Given the description of an element on the screen output the (x, y) to click on. 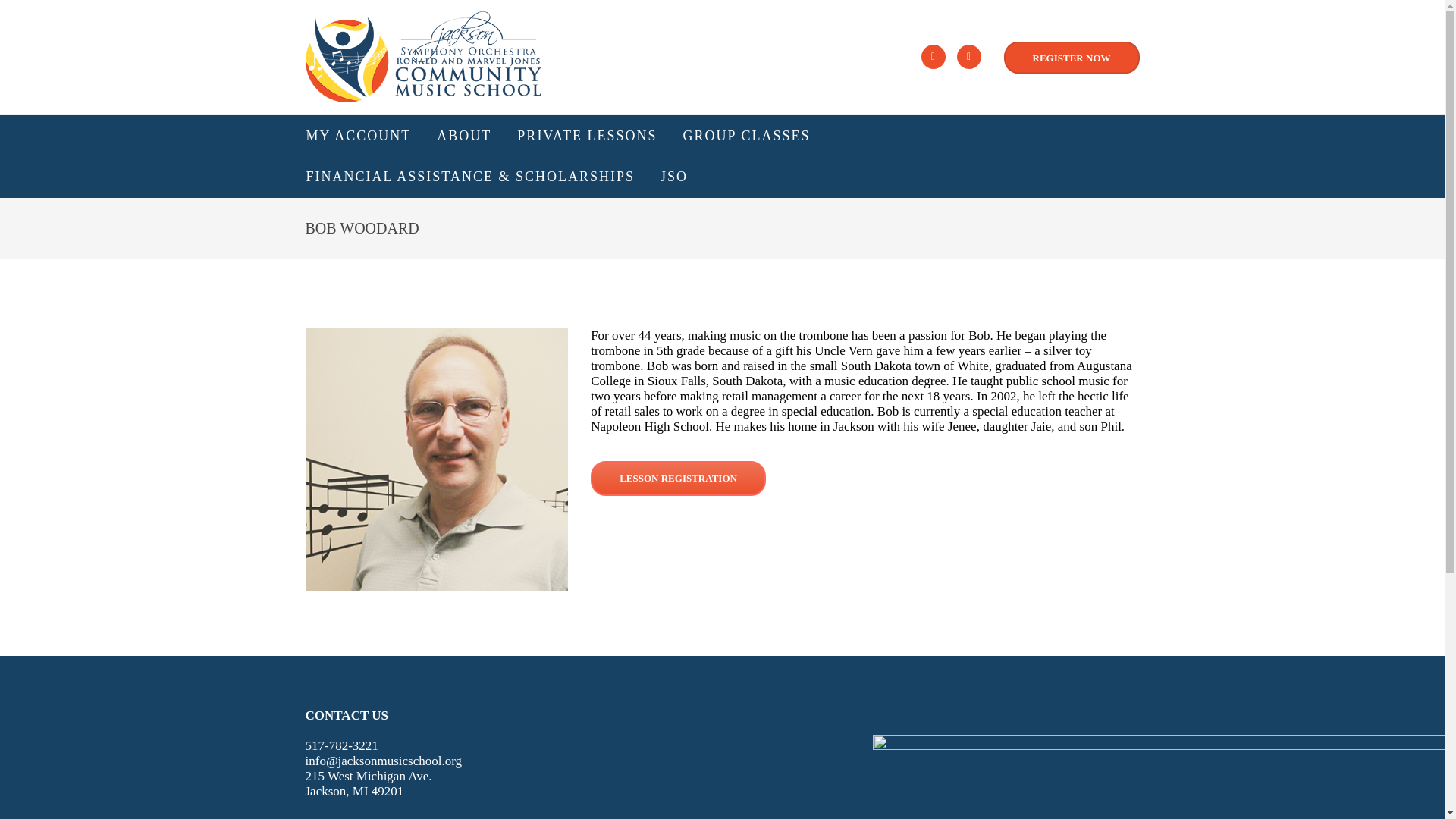
GROUP CLASSES (746, 135)
PRIVATE LESSONS (586, 135)
REGISTER NOW (1072, 56)
Bob WoodardDONE (435, 459)
ABOUT (464, 135)
MY ACCOUNT (358, 135)
Lesson Registration (678, 478)
LESSON REGISTRATION (678, 478)
